Given the description of an element on the screen output the (x, y) to click on. 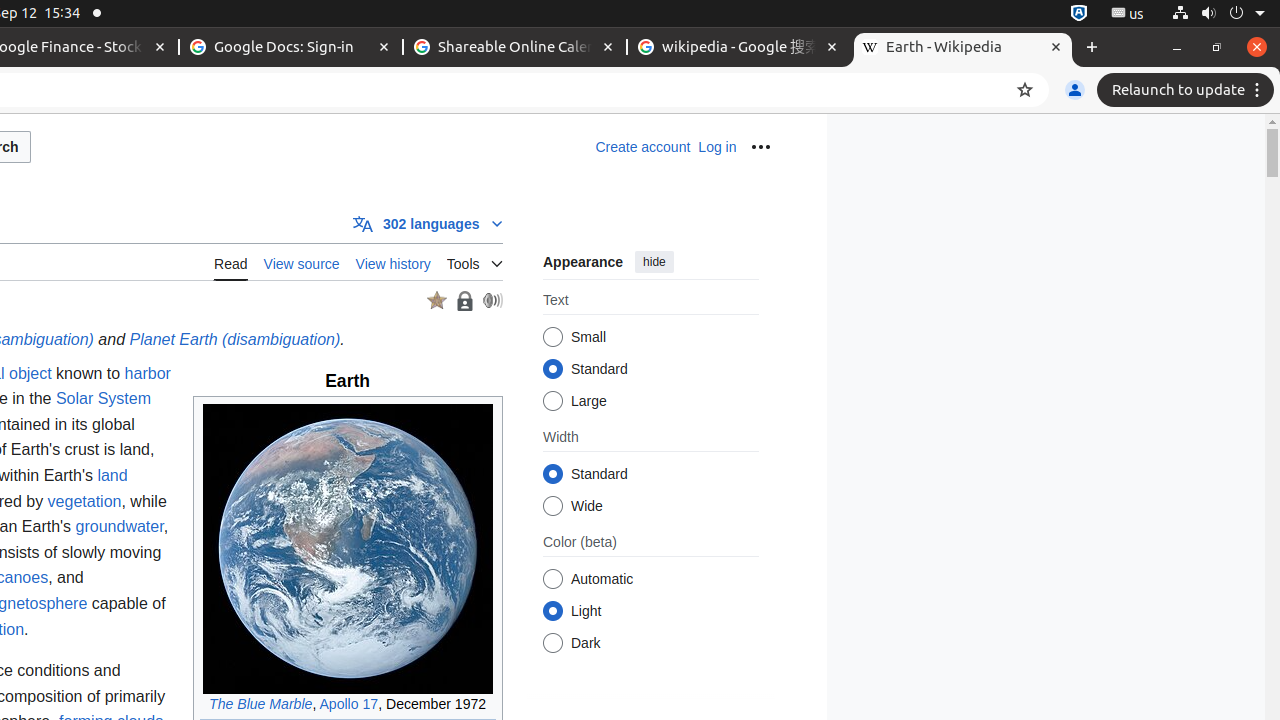
Google Docs: Sign-in - Memory usage - 34.0 MB Element type: page-tab (291, 47)
Featured article Element type: link (436, 301)
The Blue Marble Element type: link (261, 703)
System Element type: menu (1218, 13)
Light Element type: radio-button (552, 611)
